Given the description of an element on the screen output the (x, y) to click on. 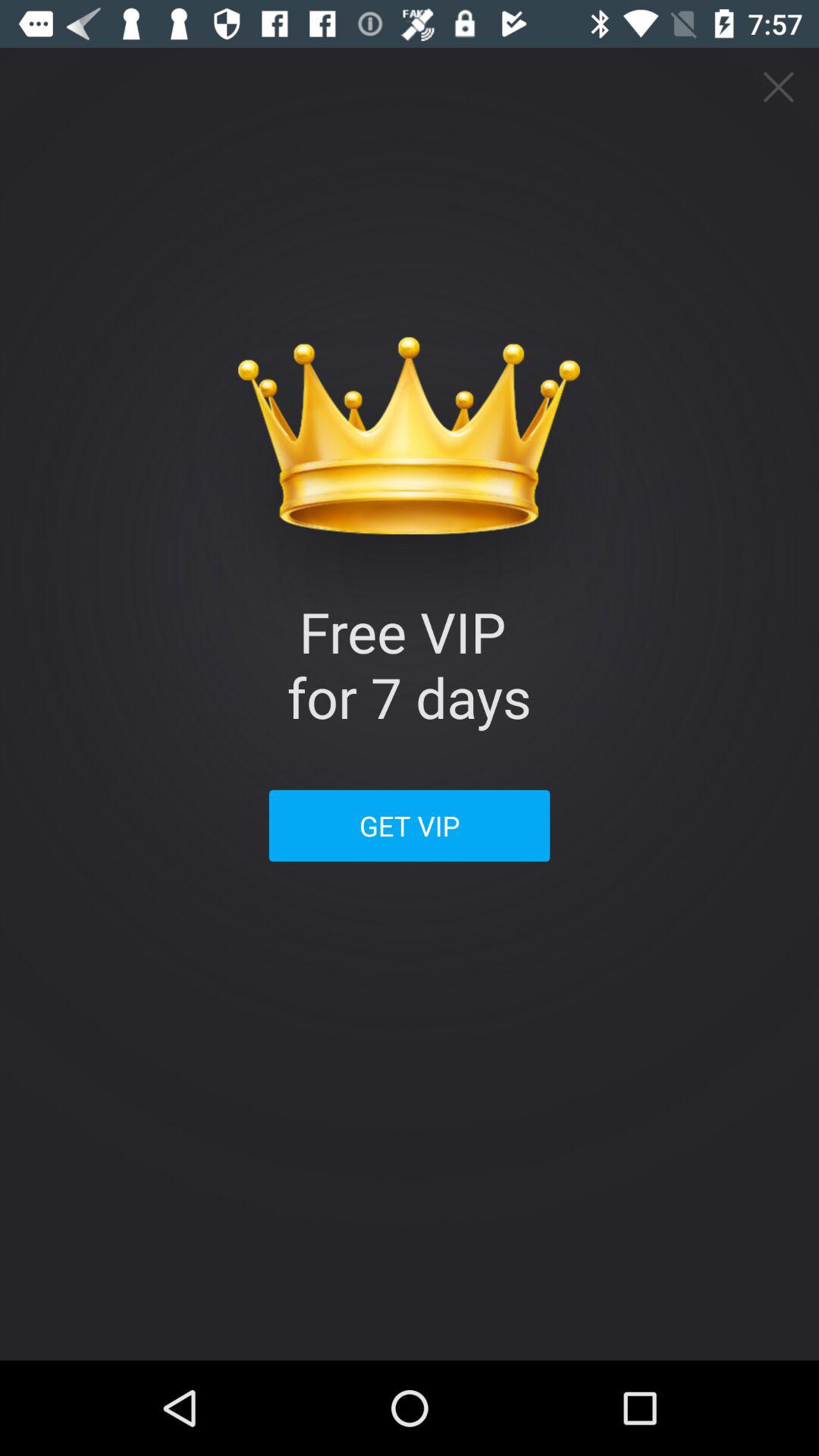
scroll to the get vip item (409, 825)
